Given the description of an element on the screen output the (x, y) to click on. 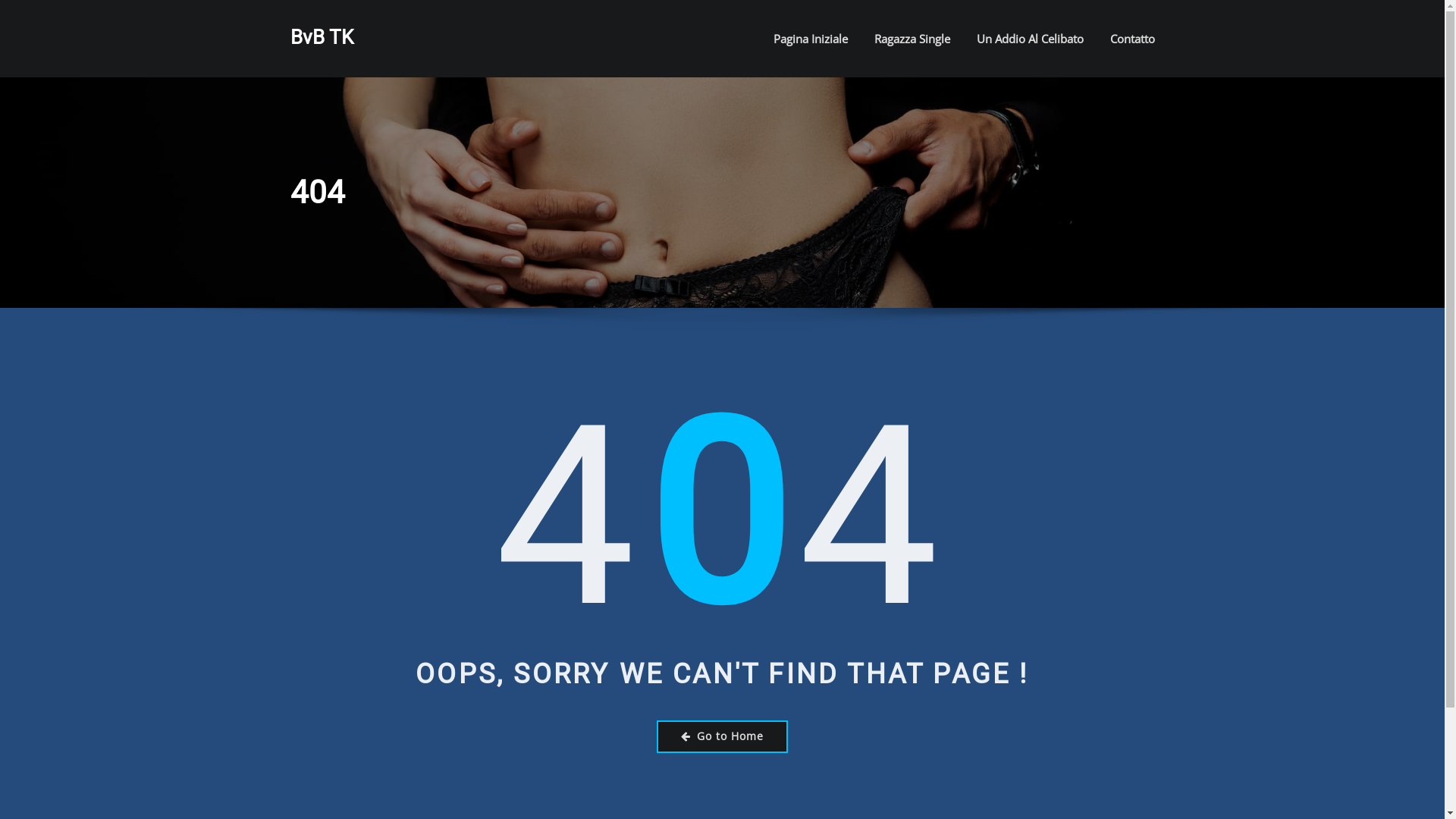
Un Addio Al Celibato Element type: text (1029, 38)
Go to Home Element type: text (721, 736)
Ragazza Single Element type: text (911, 38)
Contatto Element type: text (1132, 38)
Pagina Iniziale Element type: text (810, 38)
BvB TK Element type: text (320, 36)
